Given the description of an element on the screen output the (x, y) to click on. 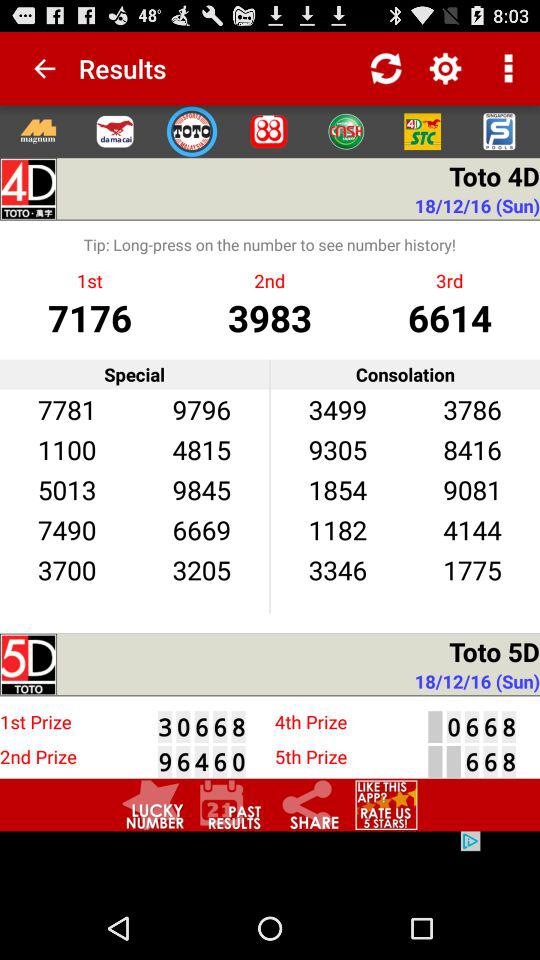
go to 'past results (231, 804)
